Given the description of an element on the screen output the (x, y) to click on. 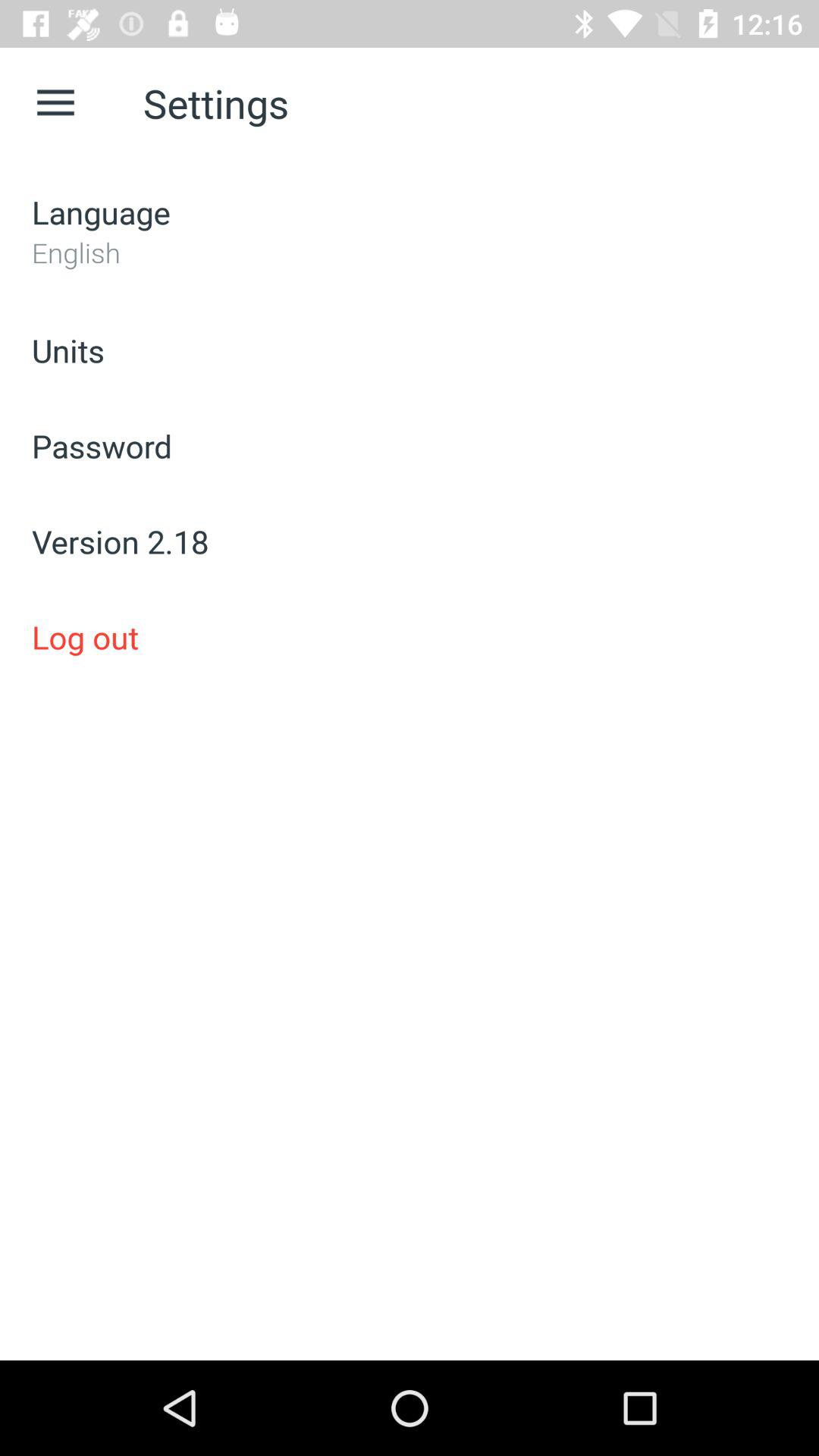
scroll to the version 2.18 item (409, 541)
